Given the description of an element on the screen output the (x, y) to click on. 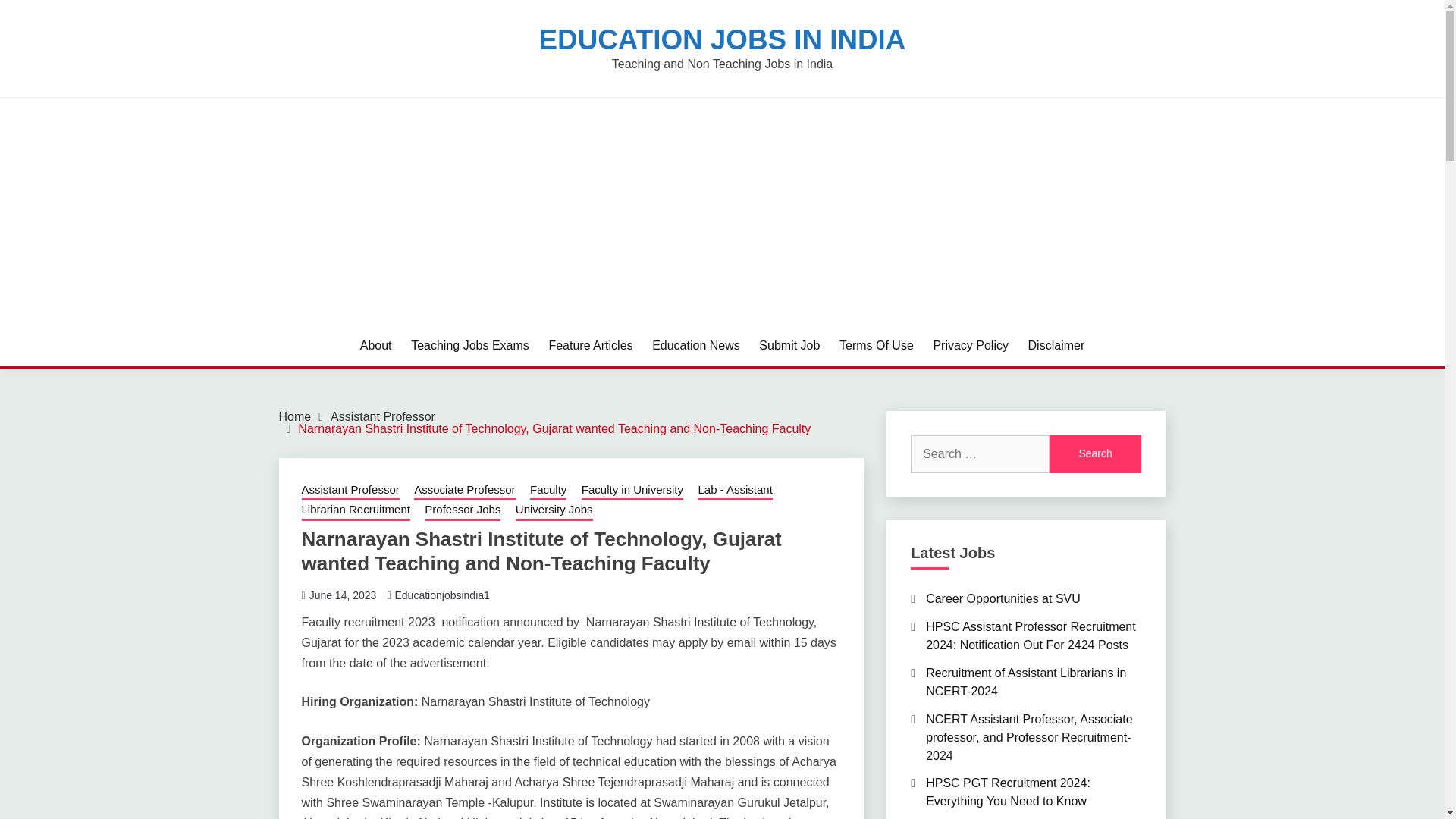
Search (1095, 453)
Librarian Recruitment (355, 510)
Terms Of Use (877, 345)
June 14, 2023 (342, 594)
Lab - Assistant (734, 491)
University Jobs (553, 510)
Education News (695, 345)
Privacy Policy (971, 345)
Recruitment of Assistant Librarians in NCERT-2024 (1025, 681)
Submit Job (788, 345)
Career Opportunities at SVU (1003, 598)
Search (1095, 453)
